Given the description of an element on the screen output the (x, y) to click on. 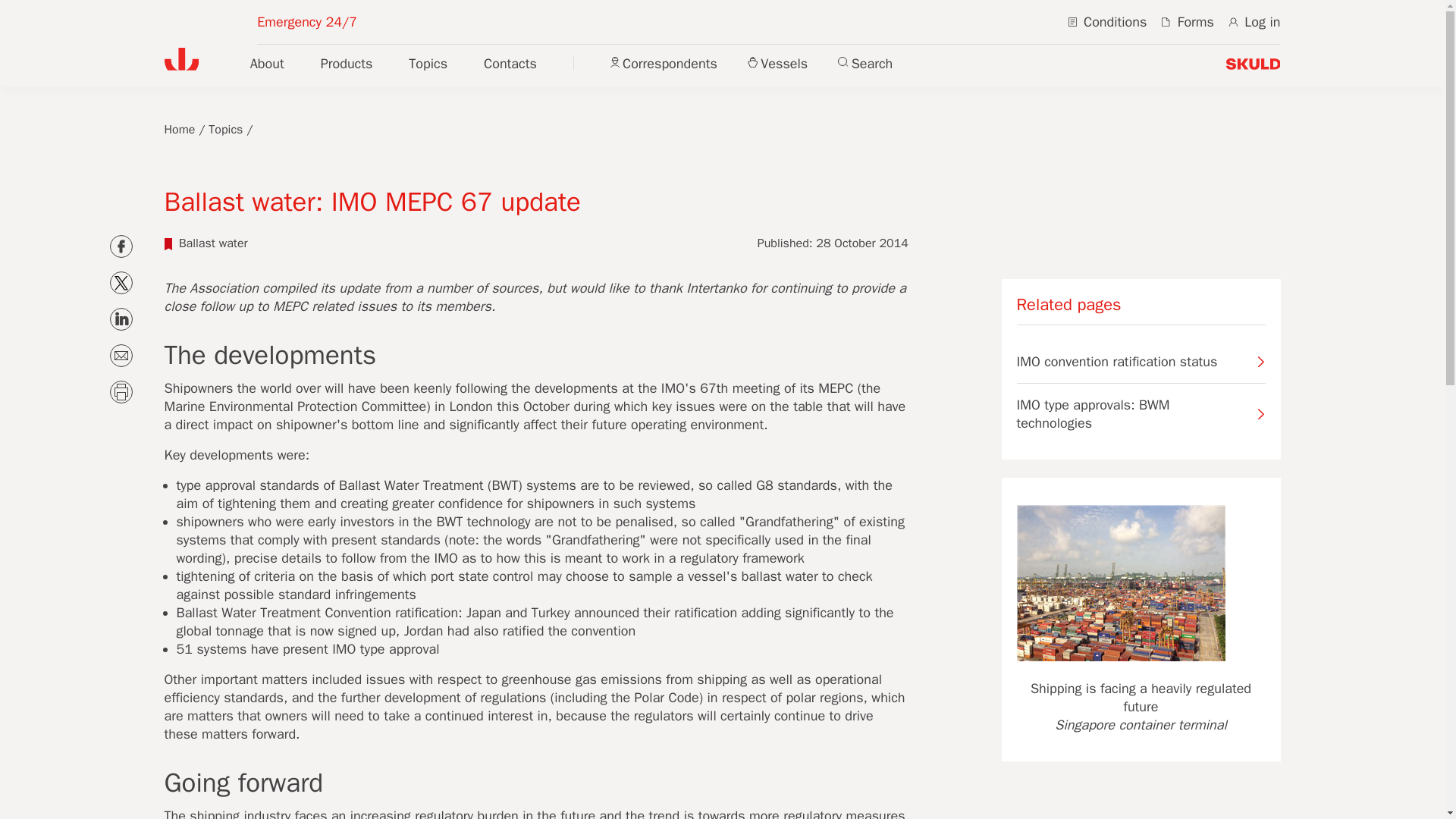
Log in (1254, 21)
Topics (225, 129)
About (266, 63)
Show search form (865, 63)
Skuld.com (1252, 64)
Forms (1187, 21)
Skuld.com (180, 58)
Home (179, 129)
Conditions (1107, 21)
